Given the description of an element on the screen output the (x, y) to click on. 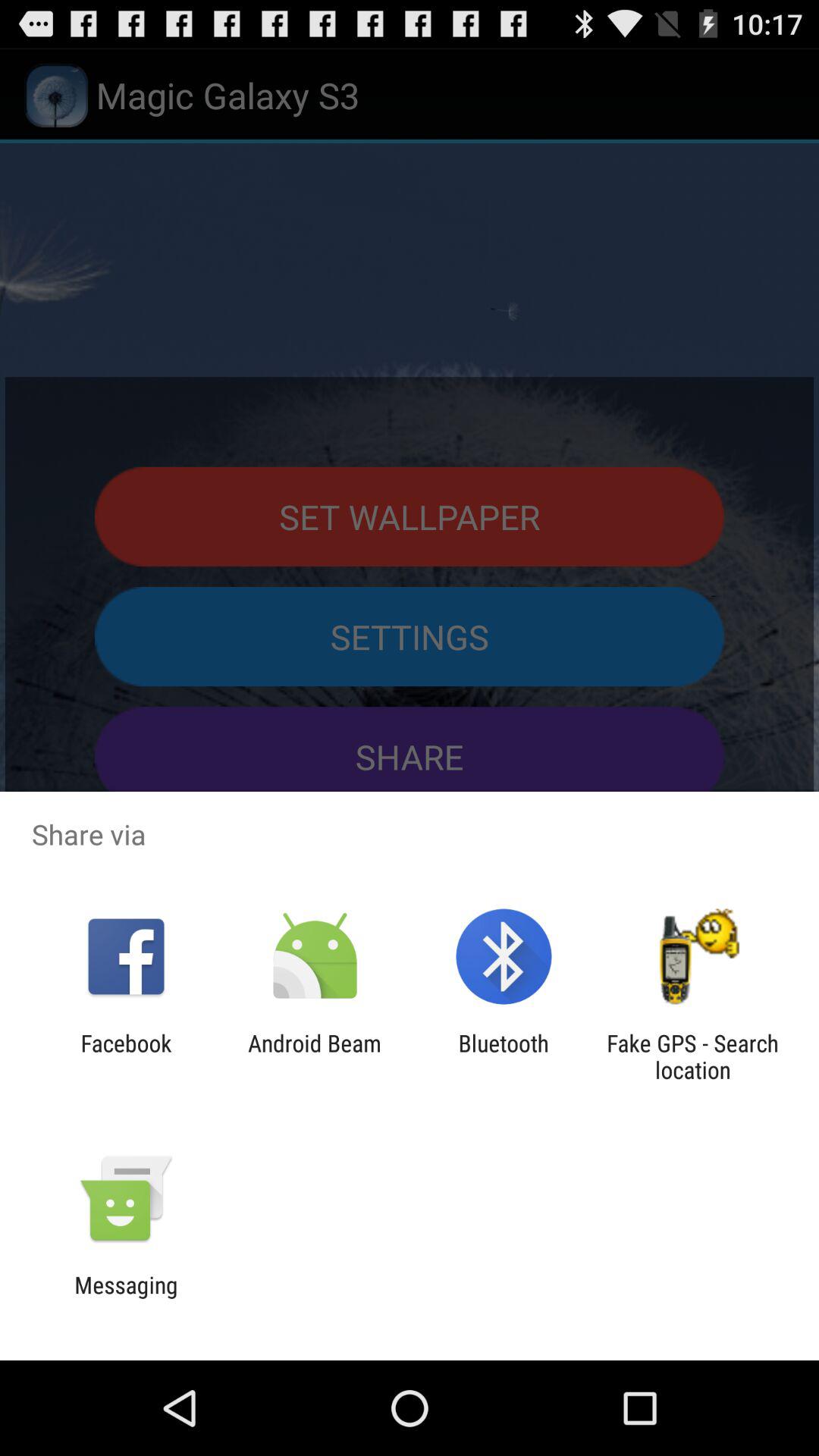
scroll to messaging item (126, 1298)
